Given the description of an element on the screen output the (x, y) to click on. 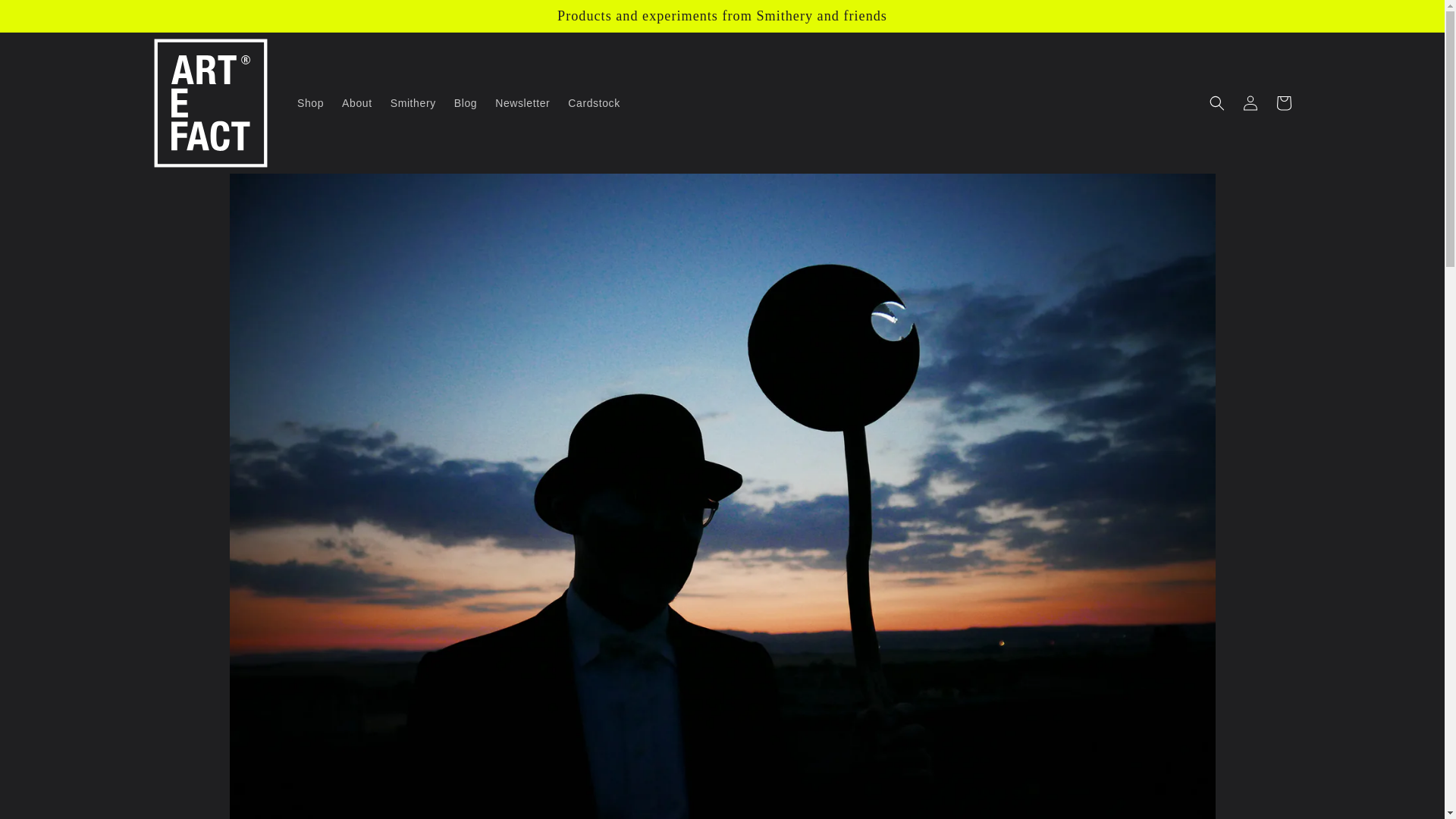
Log in (1249, 102)
Newsletter (522, 102)
About (357, 102)
Blog (465, 102)
Cart (1283, 102)
Shop (310, 102)
Smithery (413, 102)
Cardstock (593, 102)
Skip to content (45, 17)
